Given the description of an element on the screen output the (x, y) to click on. 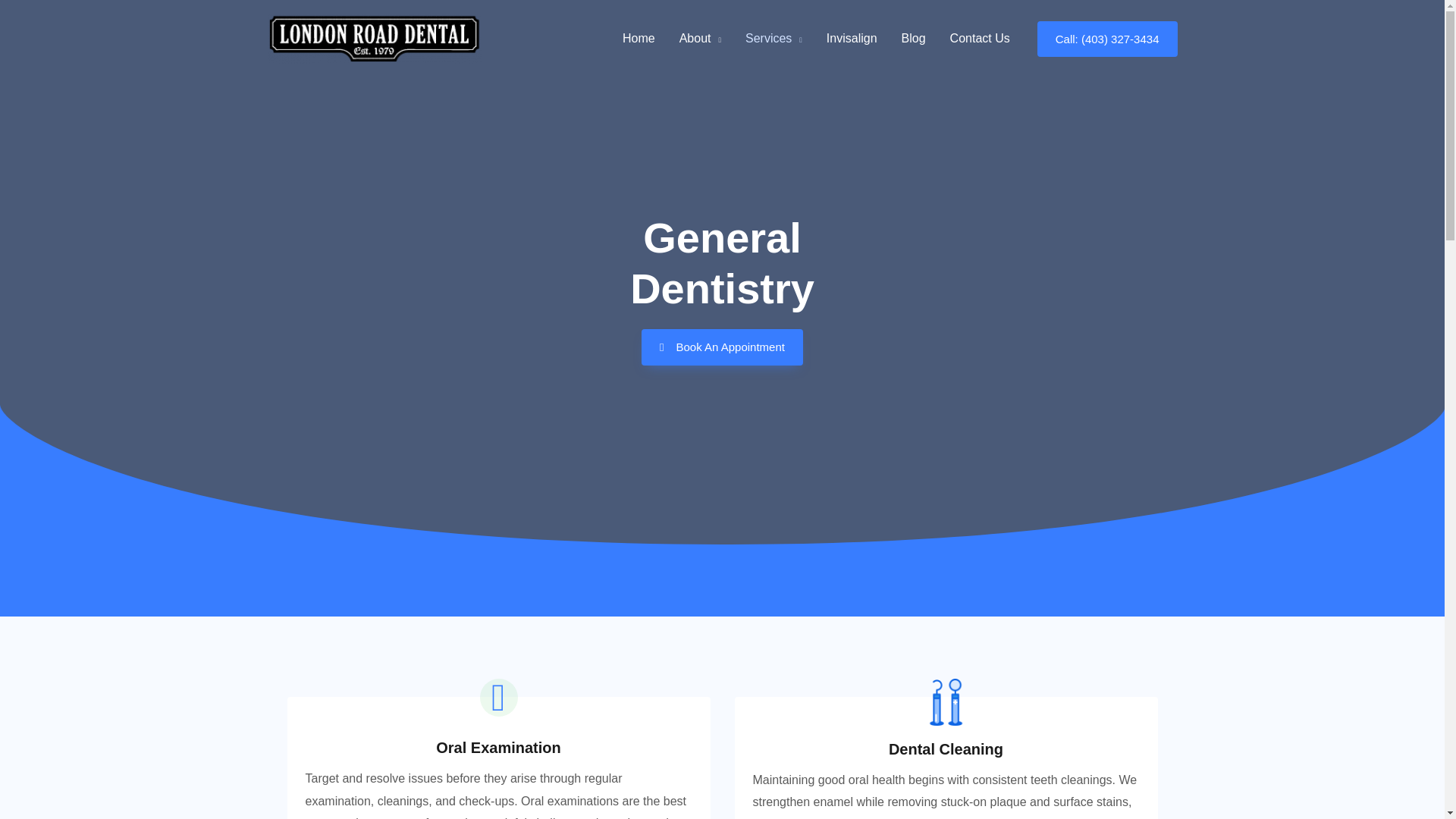
Services (773, 38)
Home (638, 38)
Book An Appointment (722, 347)
About (699, 38)
Blog (913, 38)
Contact Us (979, 38)
Invisalign (851, 38)
